Given the description of an element on the screen output the (x, y) to click on. 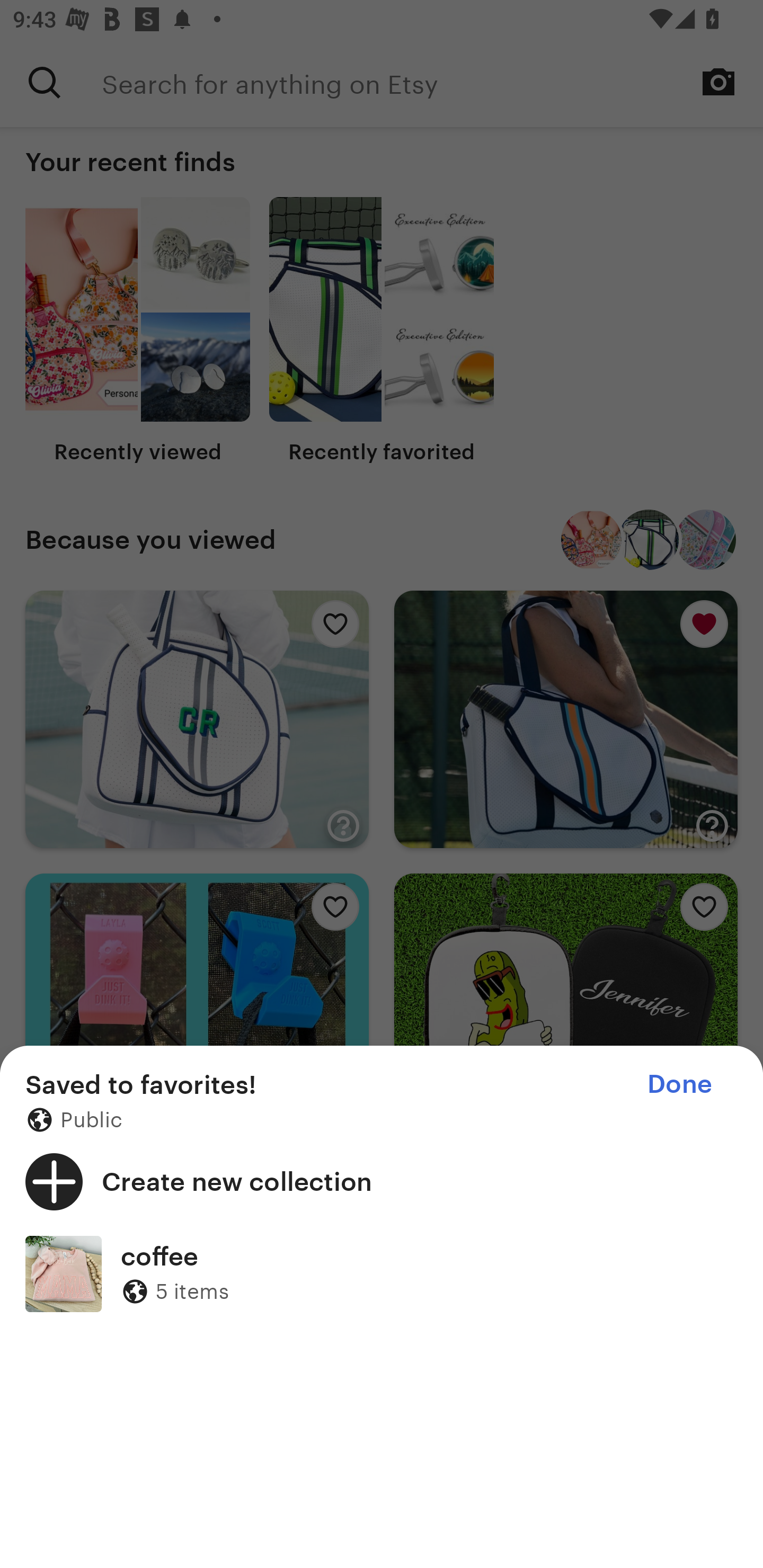
Done (679, 1083)
Create new collection (381, 1181)
coffee 5 items (381, 1273)
